Given the description of an element on the screen output the (x, y) to click on. 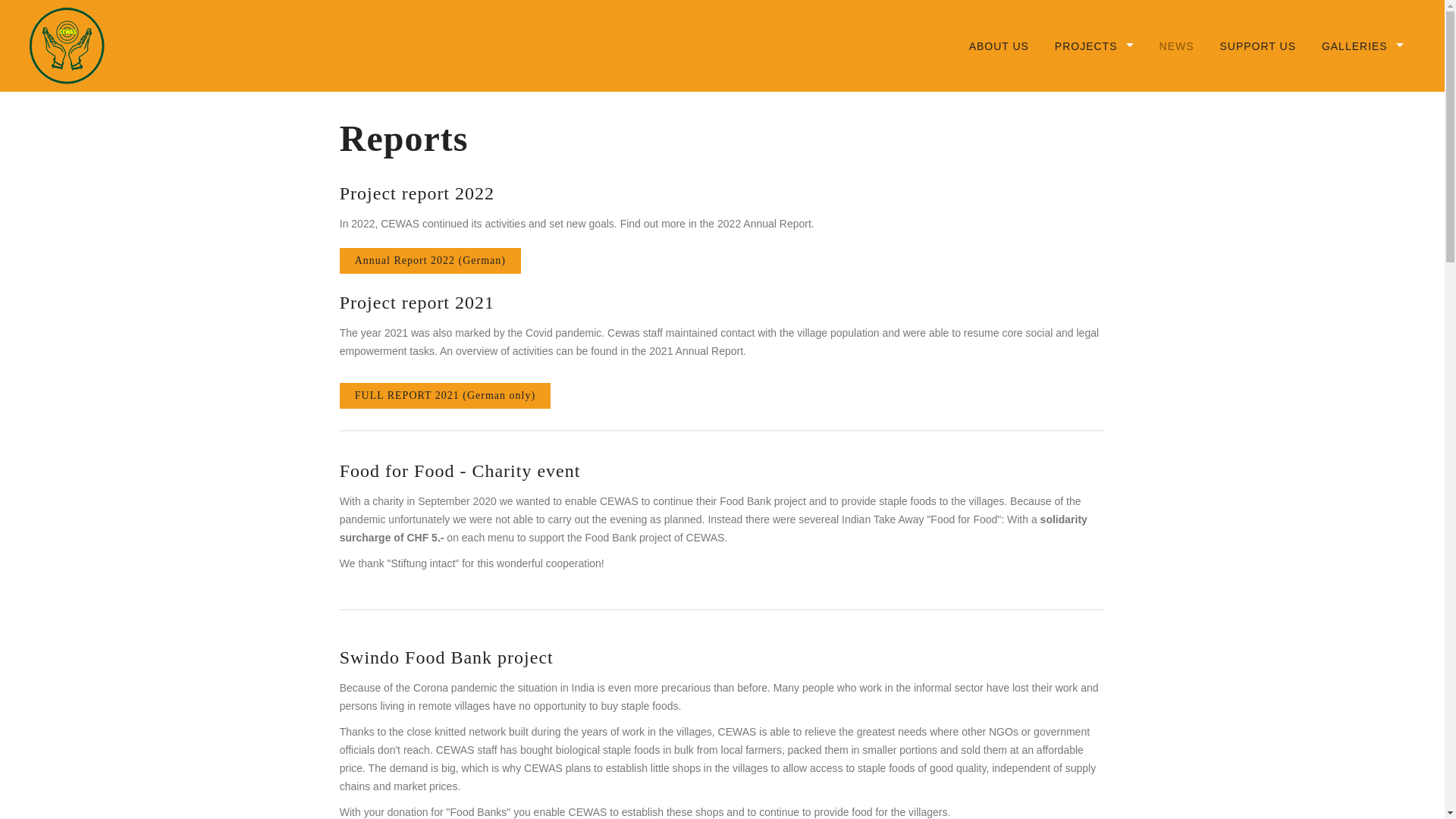
Annual Report 2022 (German) Element type: text (429, 260)
ABOUT US Element type: text (998, 45)
SUPPORT US Element type: text (1257, 45)
NEWS Element type: text (1176, 45)
FULL REPORT 2021 (German only) Element type: text (444, 395)
